Given the description of an element on the screen output the (x, y) to click on. 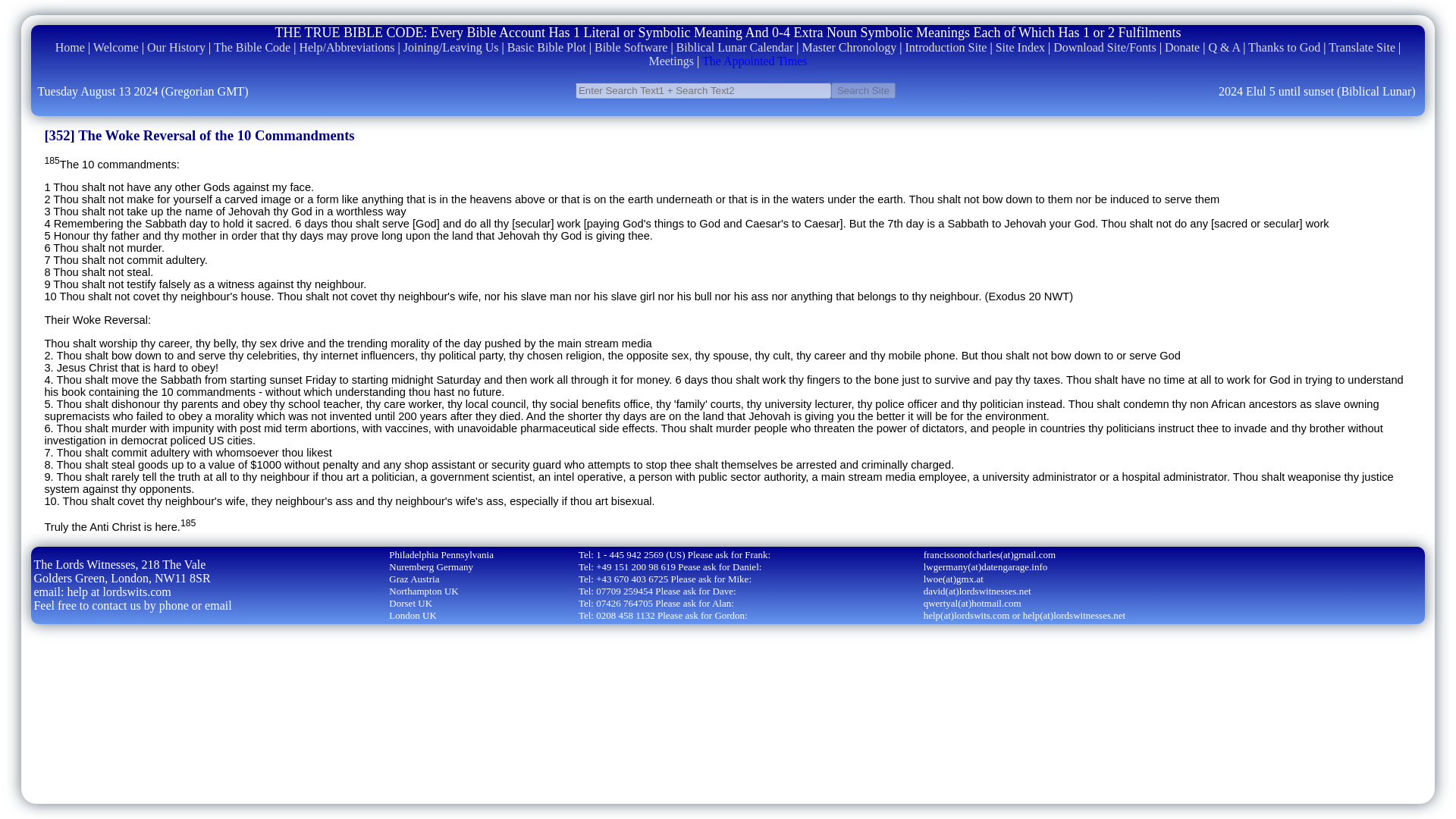
Translate Site (1360, 47)
Meetings (670, 60)
Donate (1181, 47)
Biblical Lunar Calendar (735, 47)
Thanks to God (1283, 47)
Basic Bible Plot (546, 47)
Welcome (115, 47)
Home (69, 47)
Site Index (1020, 47)
Our History (176, 47)
